Given the description of an element on the screen output the (x, y) to click on. 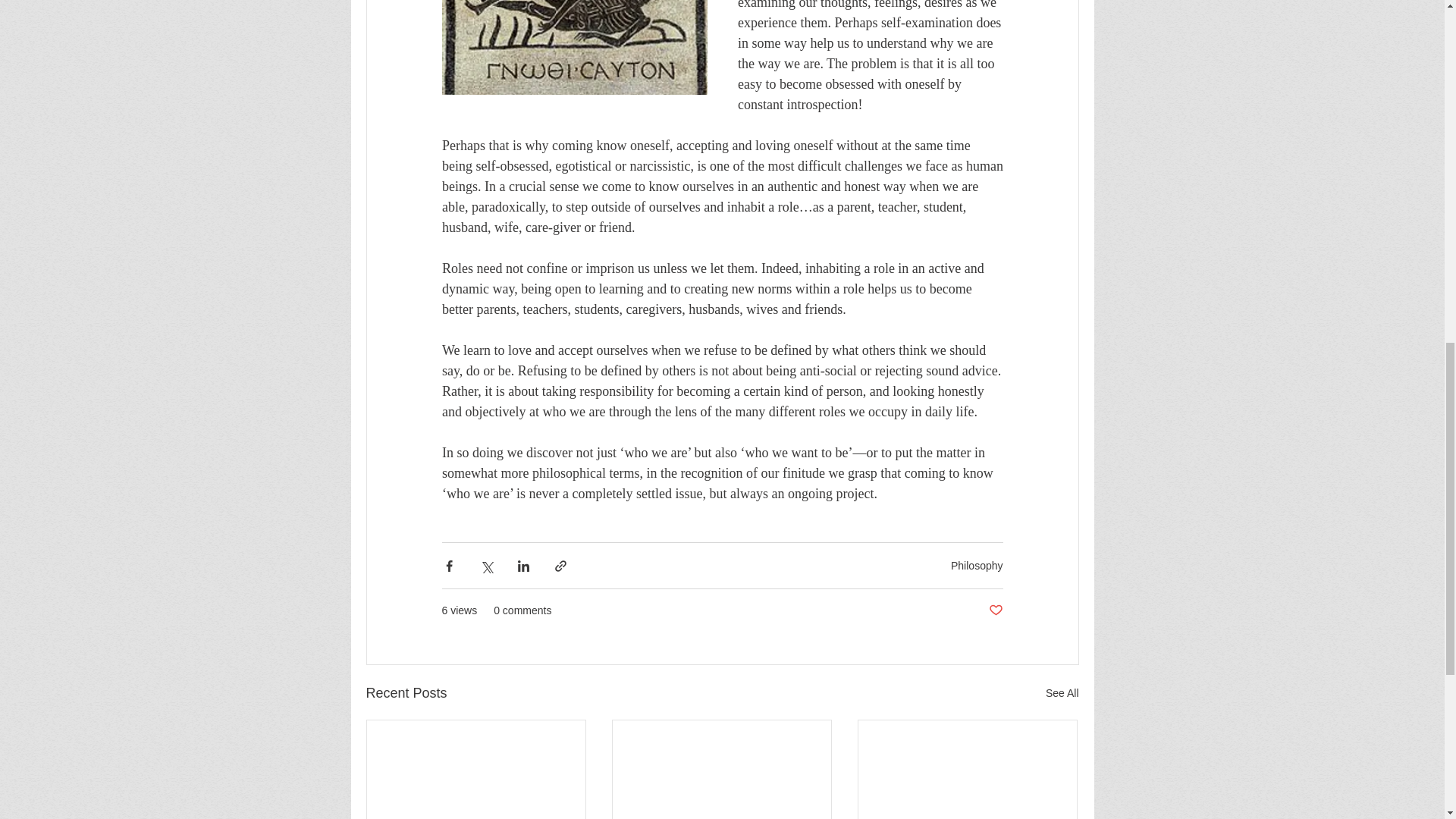
Philosophy (976, 565)
Post not marked as liked (995, 610)
See All (1061, 693)
